Given the description of an element on the screen output the (x, y) to click on. 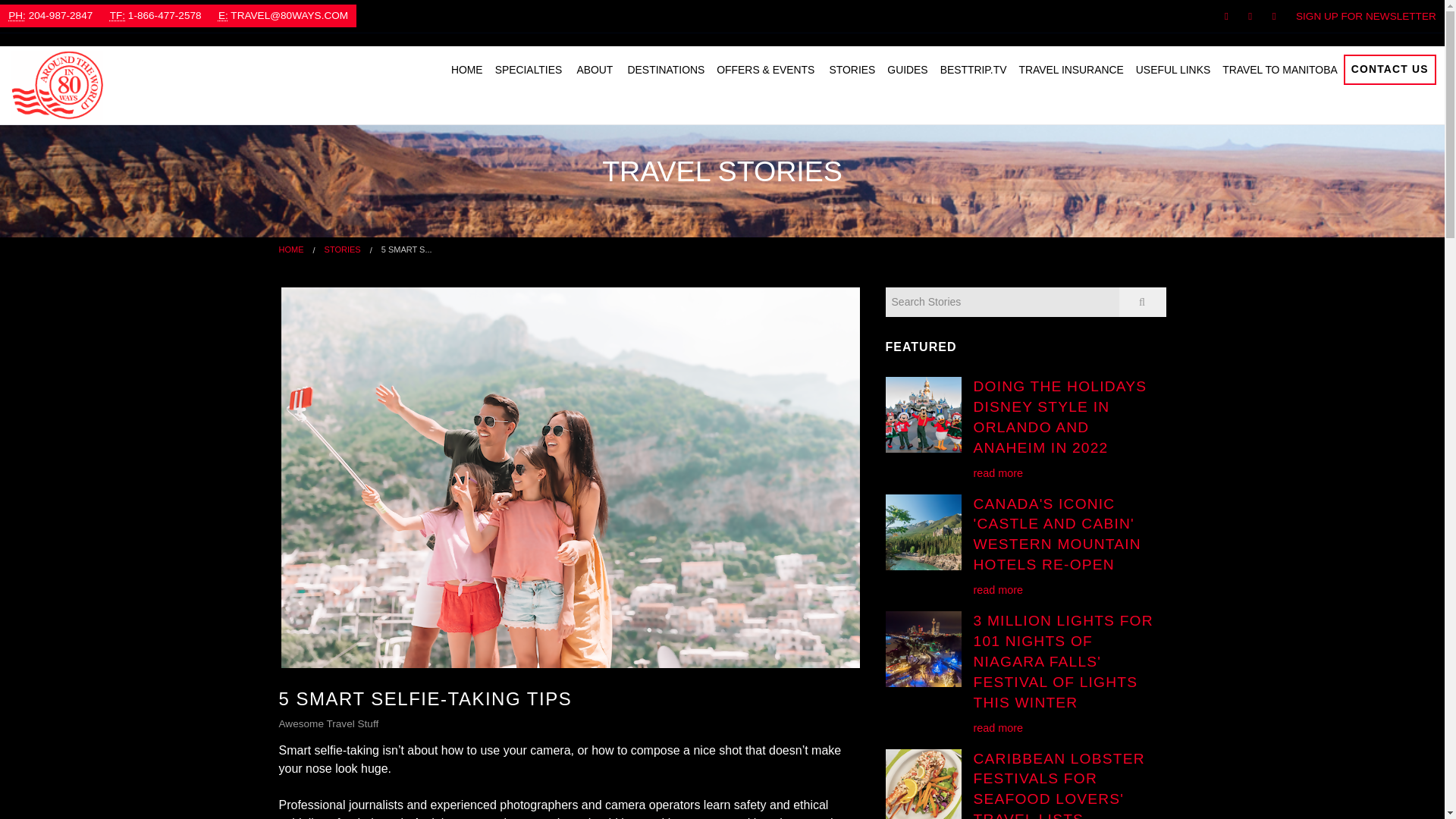
Email (223, 15)
SPECIALTIES (529, 69)
STORIES (853, 69)
HOME (291, 248)
TRAVEL TO MANITOBA (1278, 69)
USEFUL LINKS (1172, 69)
HOME (467, 69)
Phone (17, 15)
BESTTRIP.TV (973, 69)
PH: 204-987-2847 (50, 15)
TF: 1-866-477-2578 (154, 15)
STORIES (342, 248)
read more (998, 472)
GUIDES (906, 69)
TRAVEL INSURANCE (1070, 69)
